Given the description of an element on the screen output the (x, y) to click on. 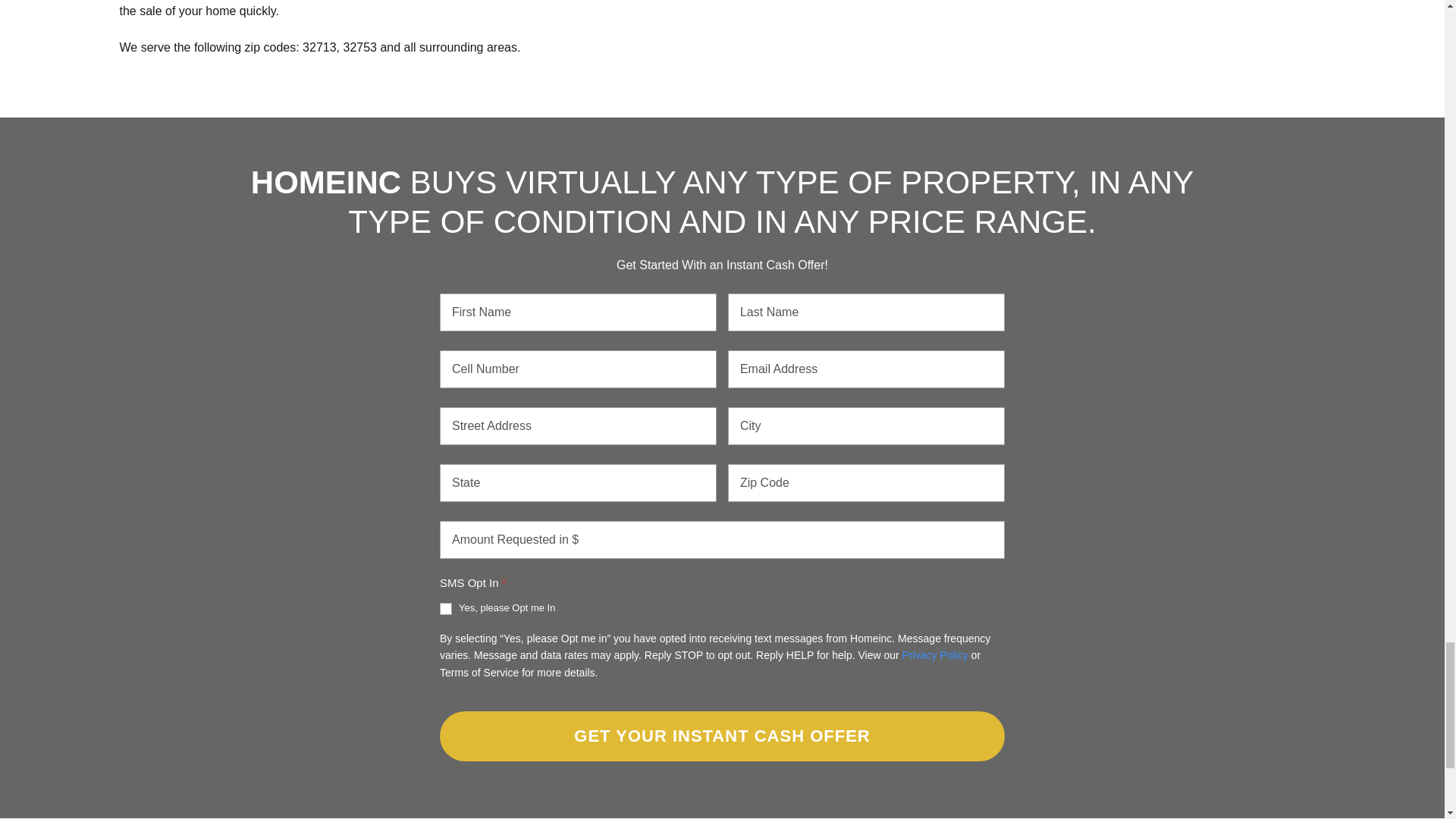
Privacy Policy (935, 654)
GET YOUR INSTANT CASH OFFER (721, 736)
Yes, please Opt me In (445, 608)
